Given the description of an element on the screen output the (x, y) to click on. 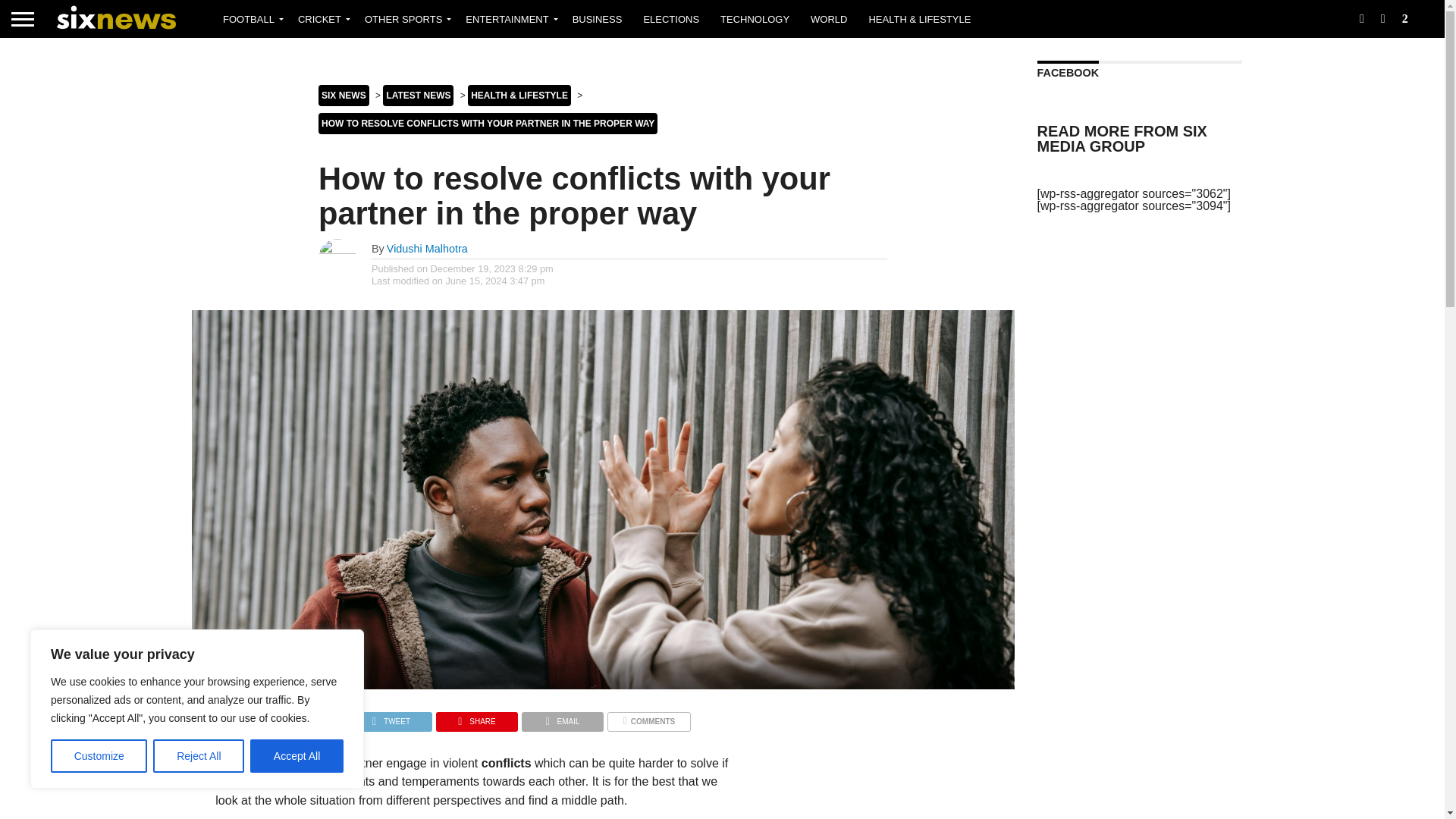
Share on Facebook (305, 717)
Go to Six News. (343, 95)
Pin This Post (476, 717)
Customize (98, 756)
Reject All (198, 756)
Accept All (296, 756)
Posts by Vidushi Malhotra (427, 248)
Go to Latest News. (417, 95)
Tweet This Post (390, 717)
